Given the description of an element on the screen output the (x, y) to click on. 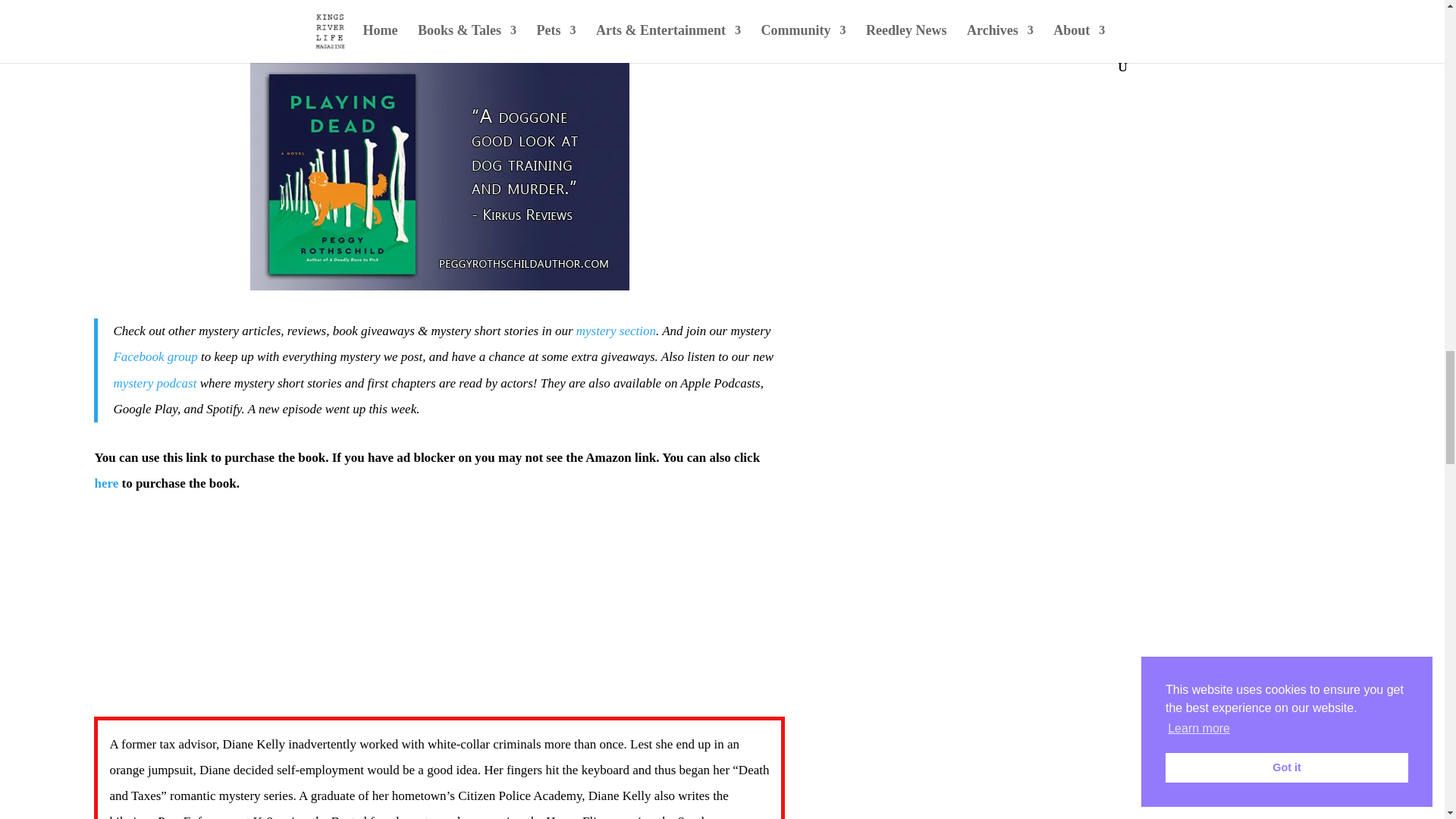
Opens to mystery section (616, 330)
